Given the description of an element on the screen output the (x, y) to click on. 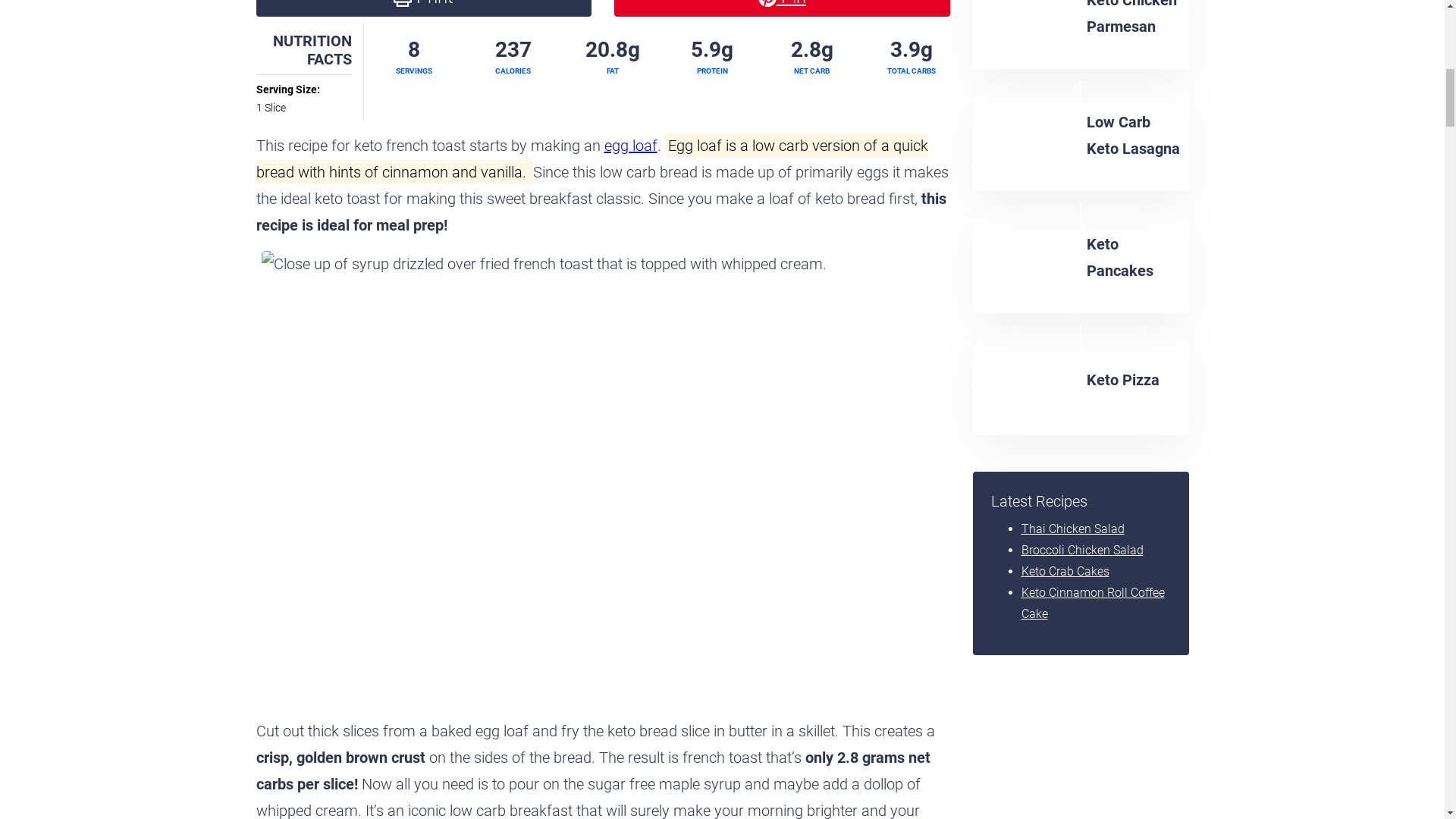
Pin (782, 8)
Print (424, 8)
